Given the description of an element on the screen output the (x, y) to click on. 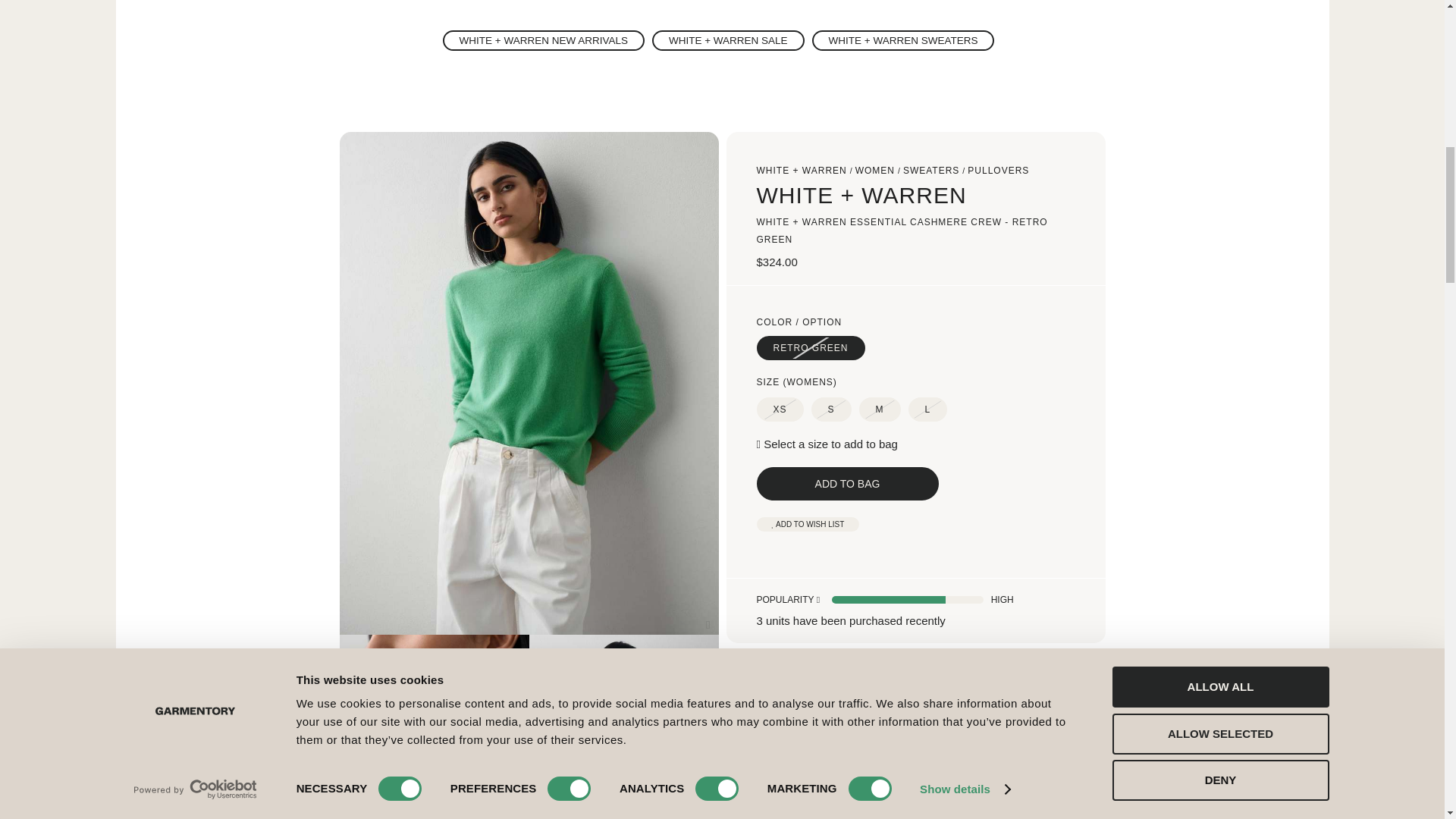
Add to bag (848, 483)
